Given the description of an element on the screen output the (x, y) to click on. 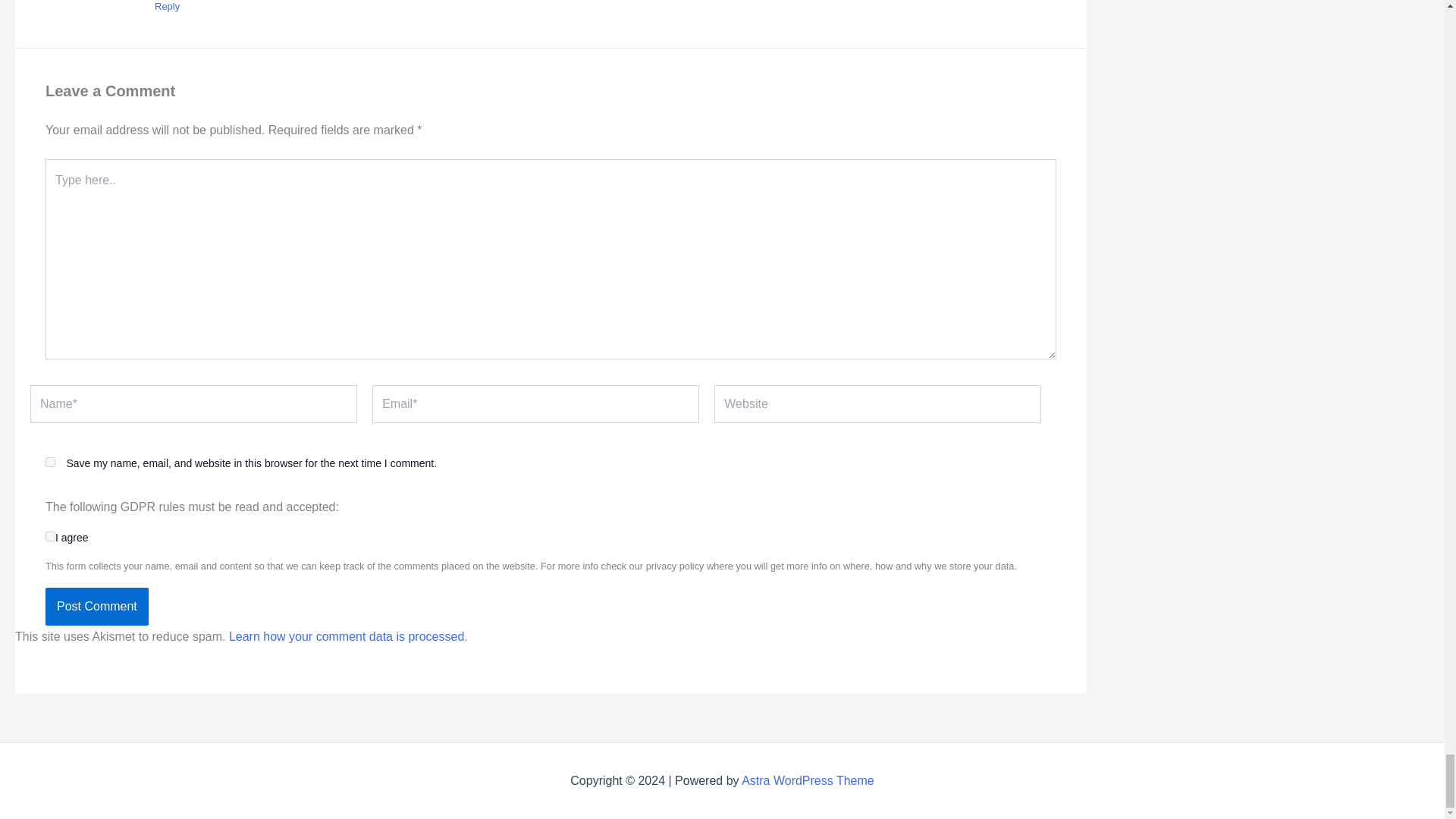
1 (50, 536)
Post Comment (96, 606)
yes (50, 461)
